Given the description of an element on the screen output the (x, y) to click on. 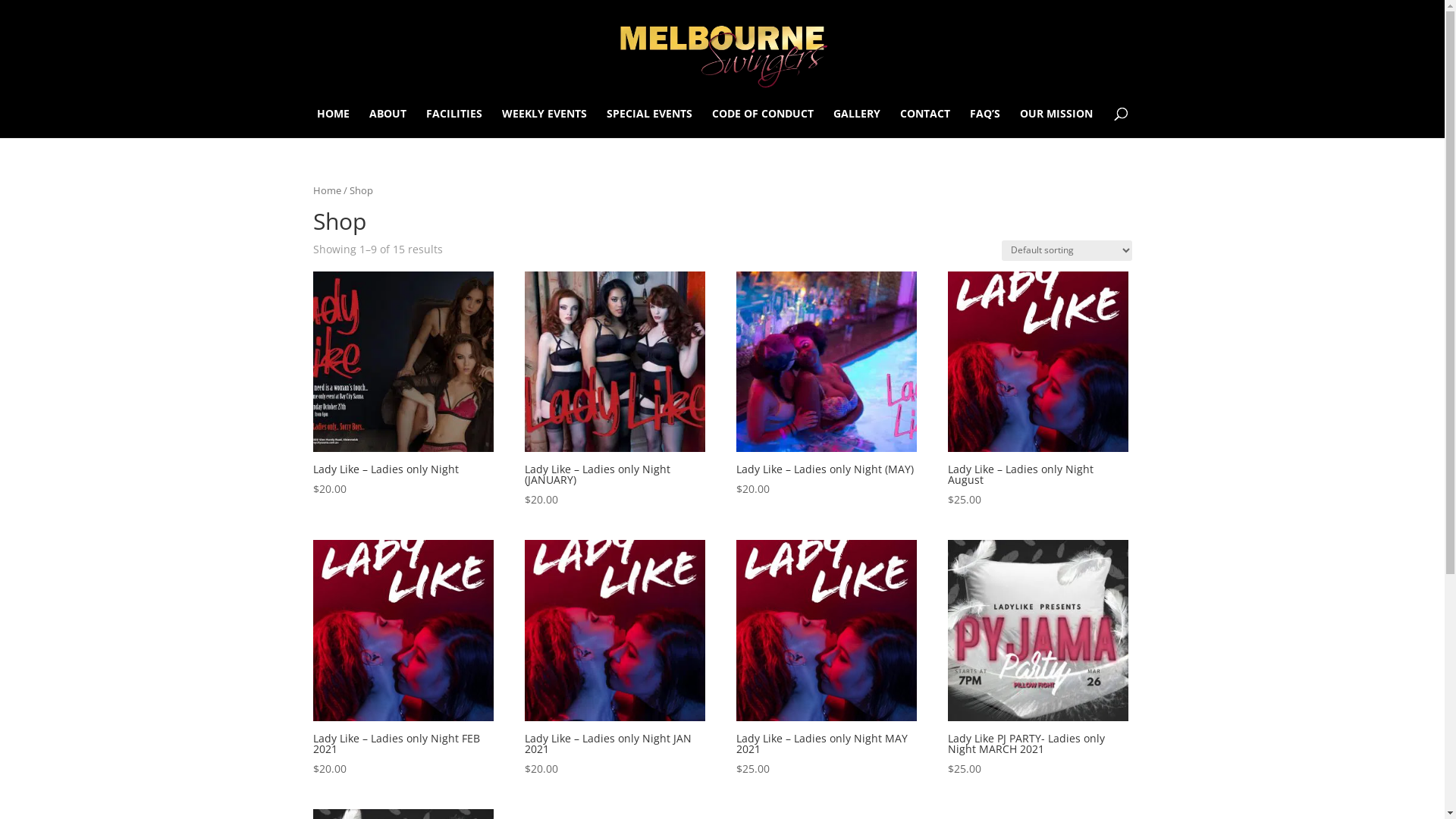
OUR MISSION Element type: text (1055, 123)
GALLERY Element type: text (856, 123)
Lady Like PJ PARTY- Ladies only Night MARCH 2021
$25.00 Element type: text (1037, 658)
FACILITIES Element type: text (454, 123)
CODE OF CONDUCT Element type: text (762, 123)
HOME Element type: text (332, 123)
SPECIAL EVENTS Element type: text (649, 123)
Home Element type: text (326, 190)
WEEKLY EVENTS Element type: text (544, 123)
CONTACT Element type: text (925, 123)
ABOUT Element type: text (387, 123)
